Given the description of an element on the screen output the (x, y) to click on. 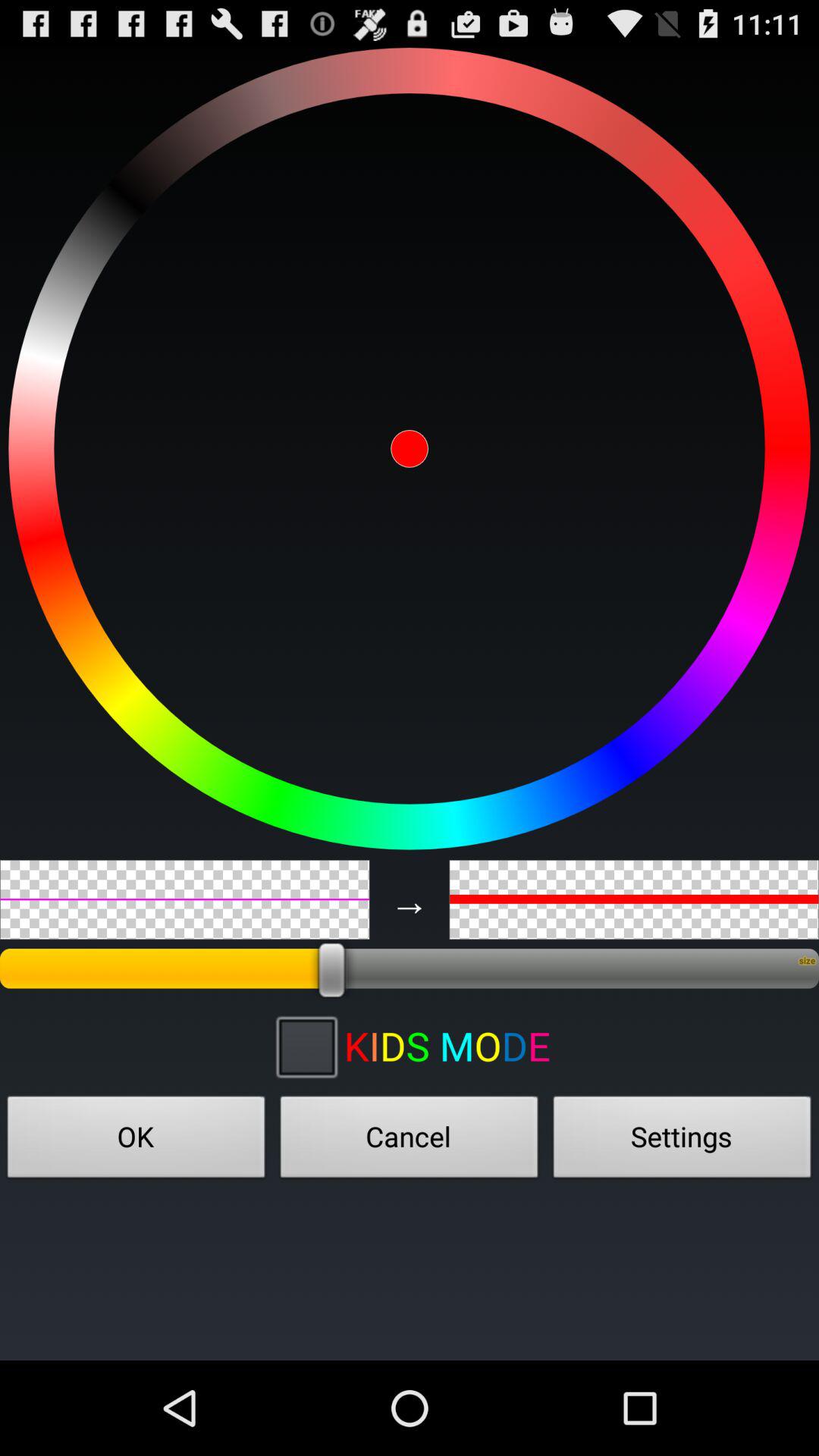
tap the icon at the bottom left corner (136, 1141)
